Given the description of an element on the screen output the (x, y) to click on. 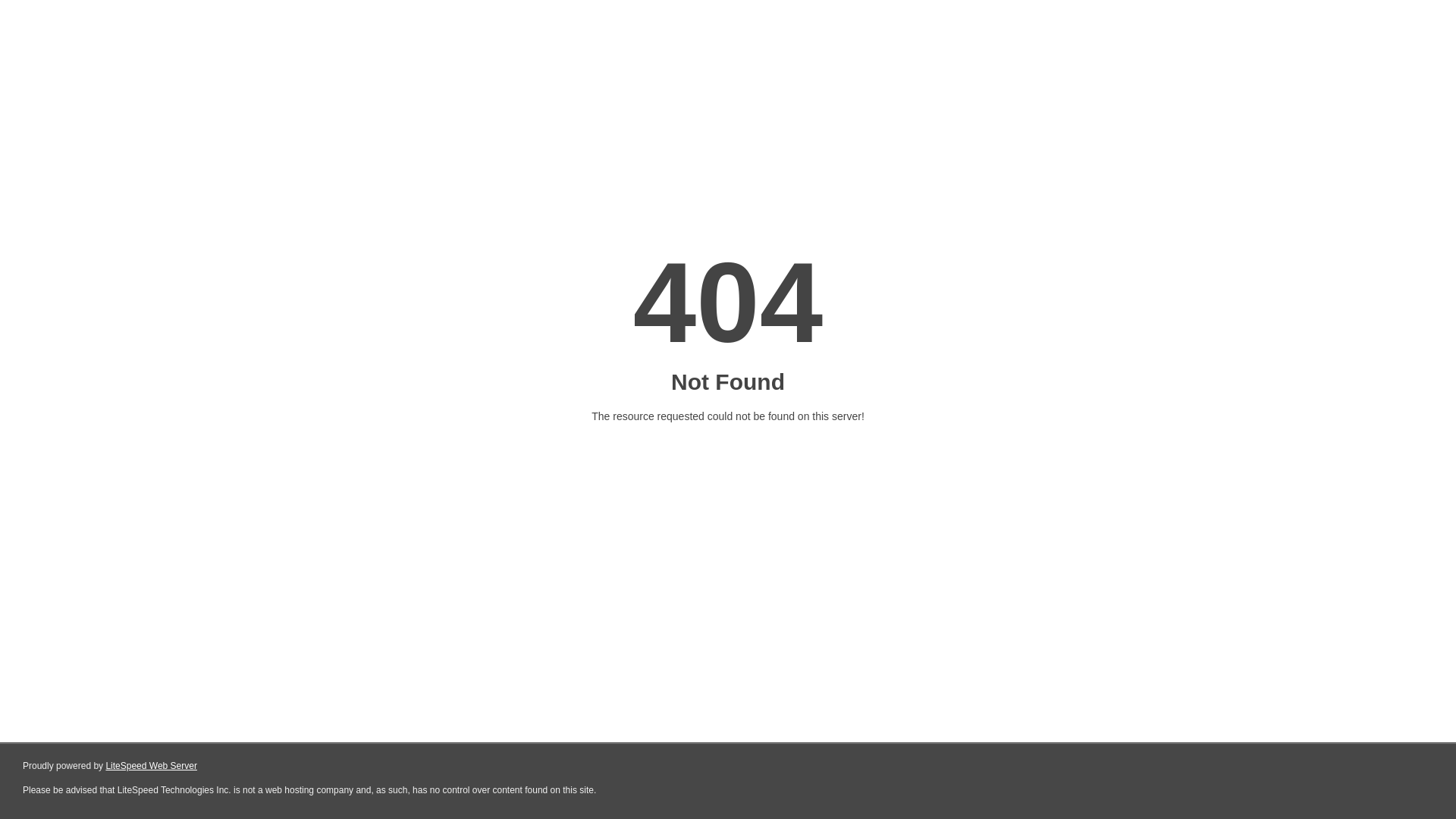
LiteSpeed Web Server Element type: text (151, 765)
